Given the description of an element on the screen output the (x, y) to click on. 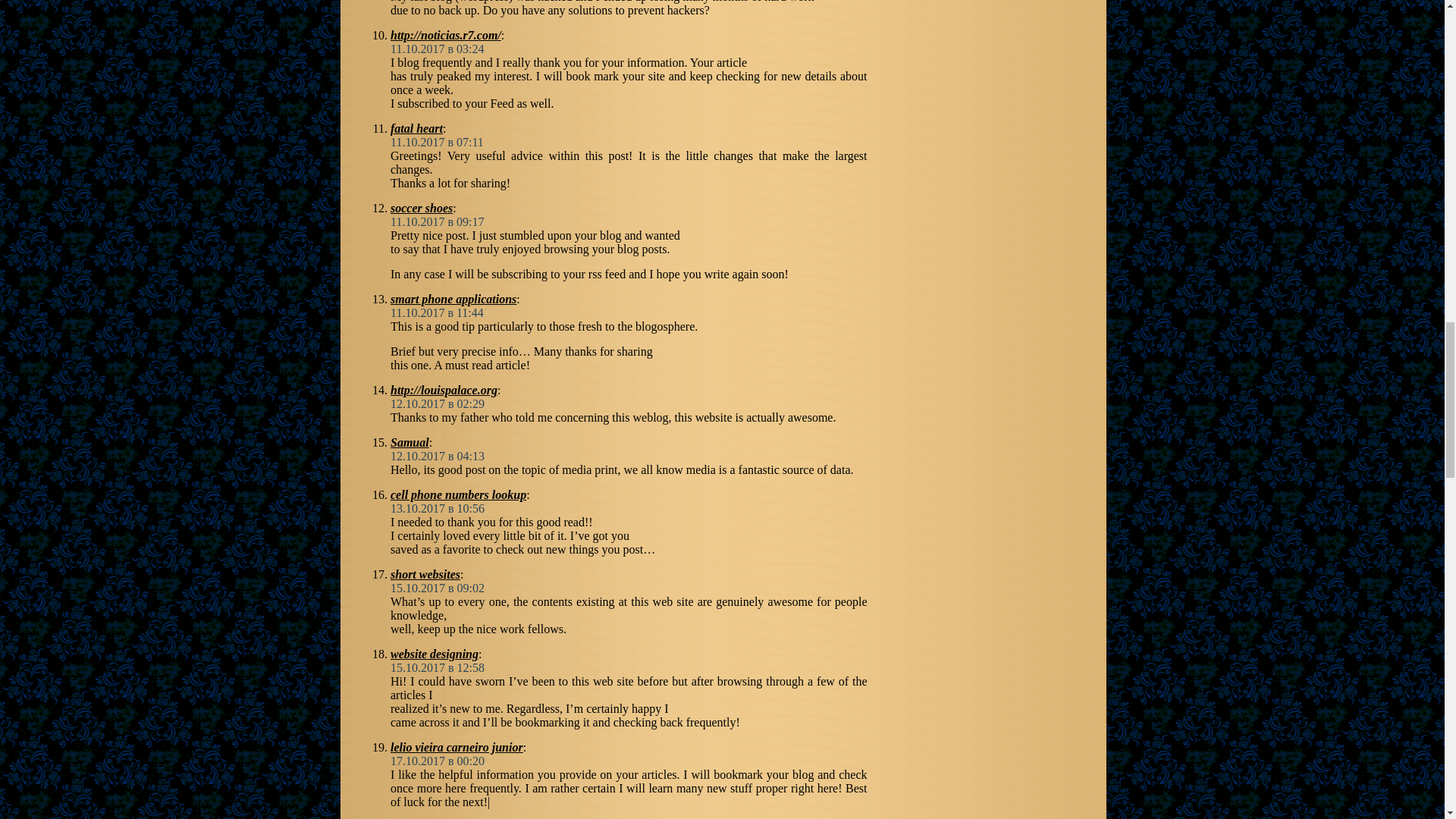
soccer shoes (421, 207)
fatal heart (416, 128)
smart phone applications (453, 298)
